Given the description of an element on the screen output the (x, y) to click on. 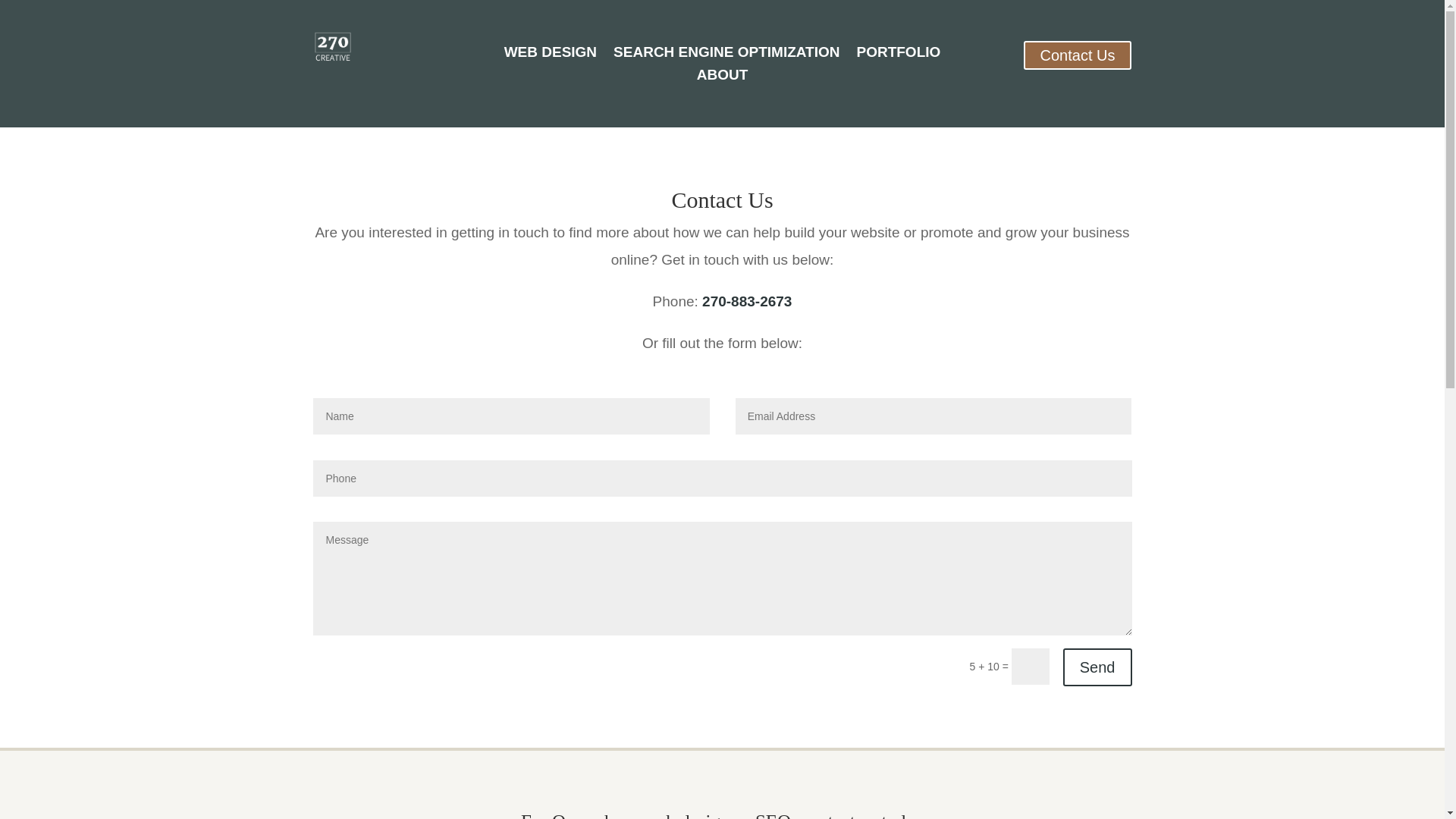
WEB DESIGN Element type: text (550, 55)
SEARCH ENGINE OPTIMIZATION Element type: text (726, 55)
Contact Us Element type: text (1077, 54)
ABOUT Element type: text (722, 77)
270 Creative Logo Element type: hover (331, 47)
270-883-2673 Element type: text (746, 301)
PORTFOLIO Element type: text (898, 55)
Send Element type: text (1097, 667)
